Given the description of an element on the screen output the (x, y) to click on. 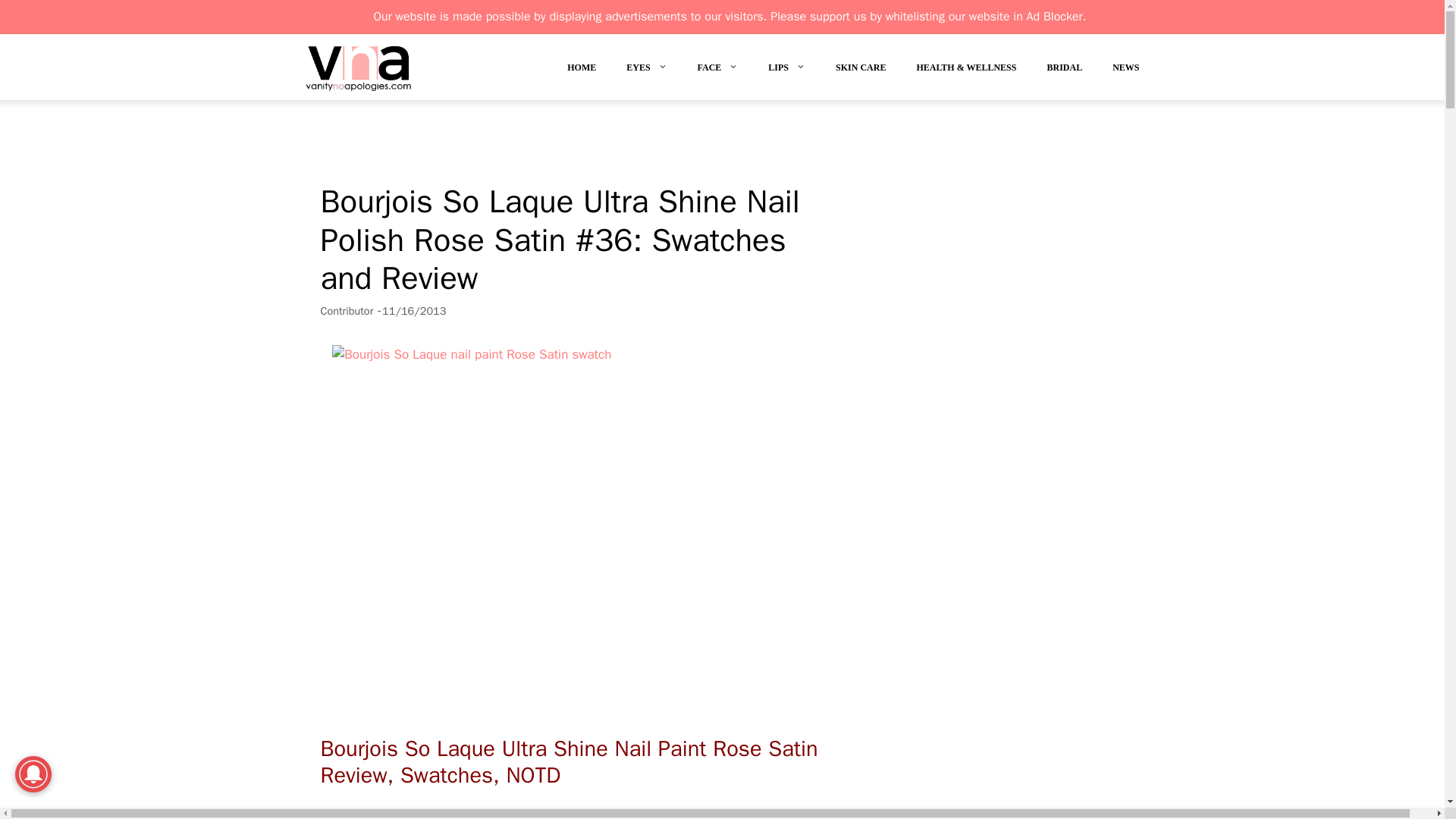
FACE (718, 70)
SKIN CARE (861, 70)
NEWS (1125, 70)
HOME (581, 70)
Advertisement (596, 142)
View all posts by Contributor (346, 310)
LIPS (786, 70)
Contributor (346, 310)
EYES (646, 70)
BRIDAL (1063, 70)
